Given the description of an element on the screen output the (x, y) to click on. 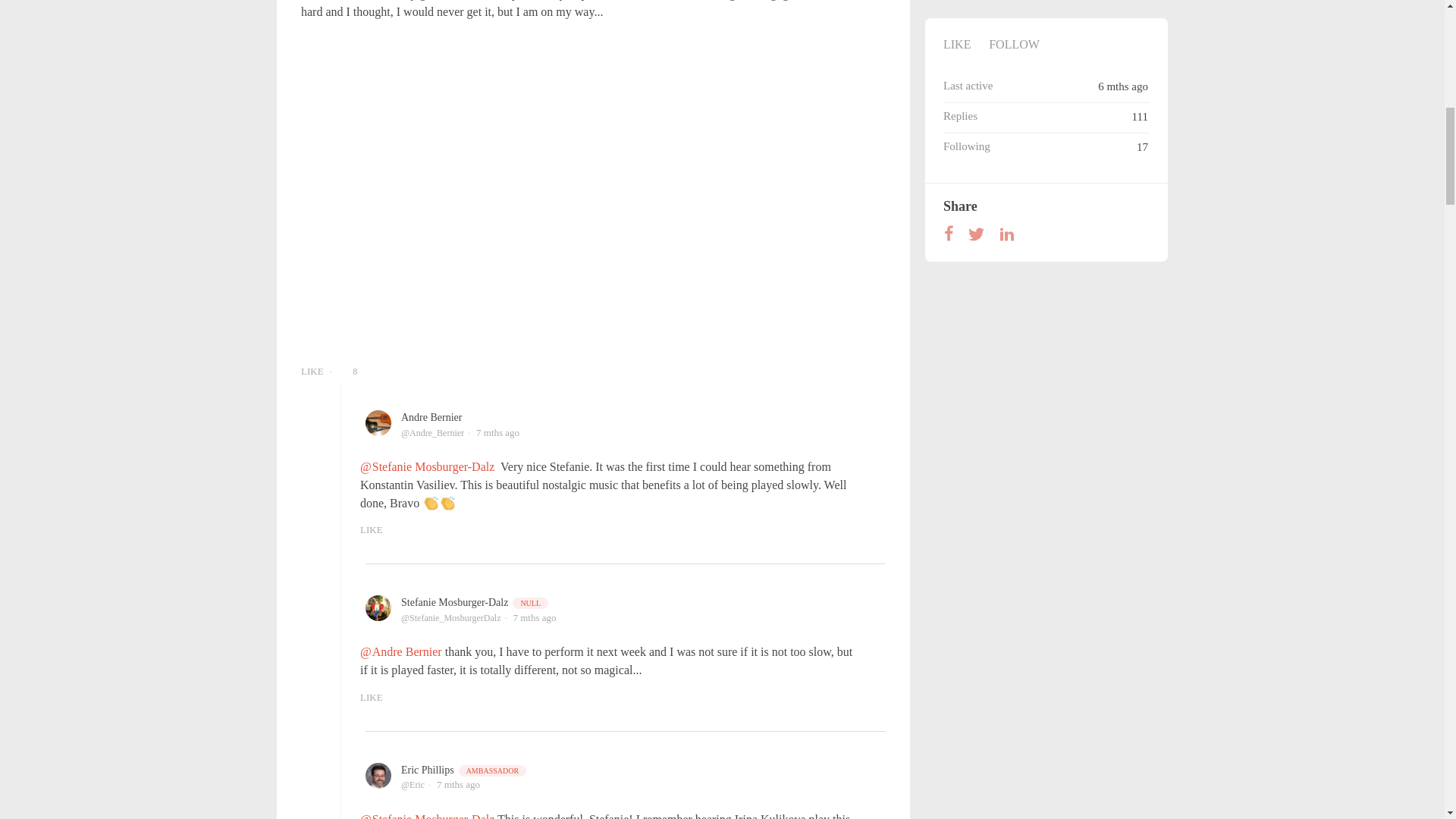
Stefanie Mosburger-DalzNULL (475, 602)
Andre Bernier (431, 417)
Eric PhillipsAMBASSADOR (464, 769)
